Given the description of an element on the screen output the (x, y) to click on. 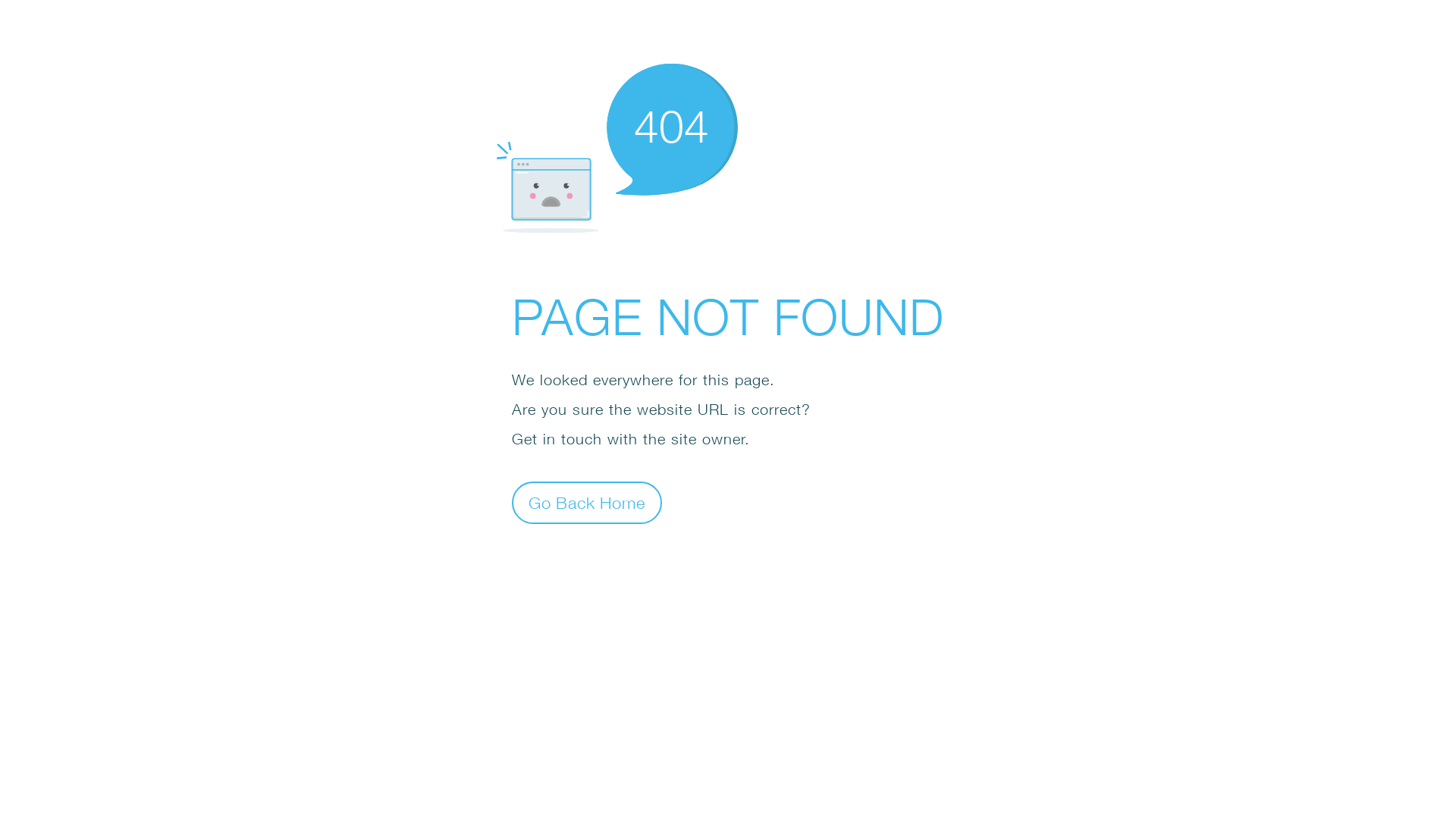
Go Back Home Element type: text (586, 502)
